Given the description of an element on the screen output the (x, y) to click on. 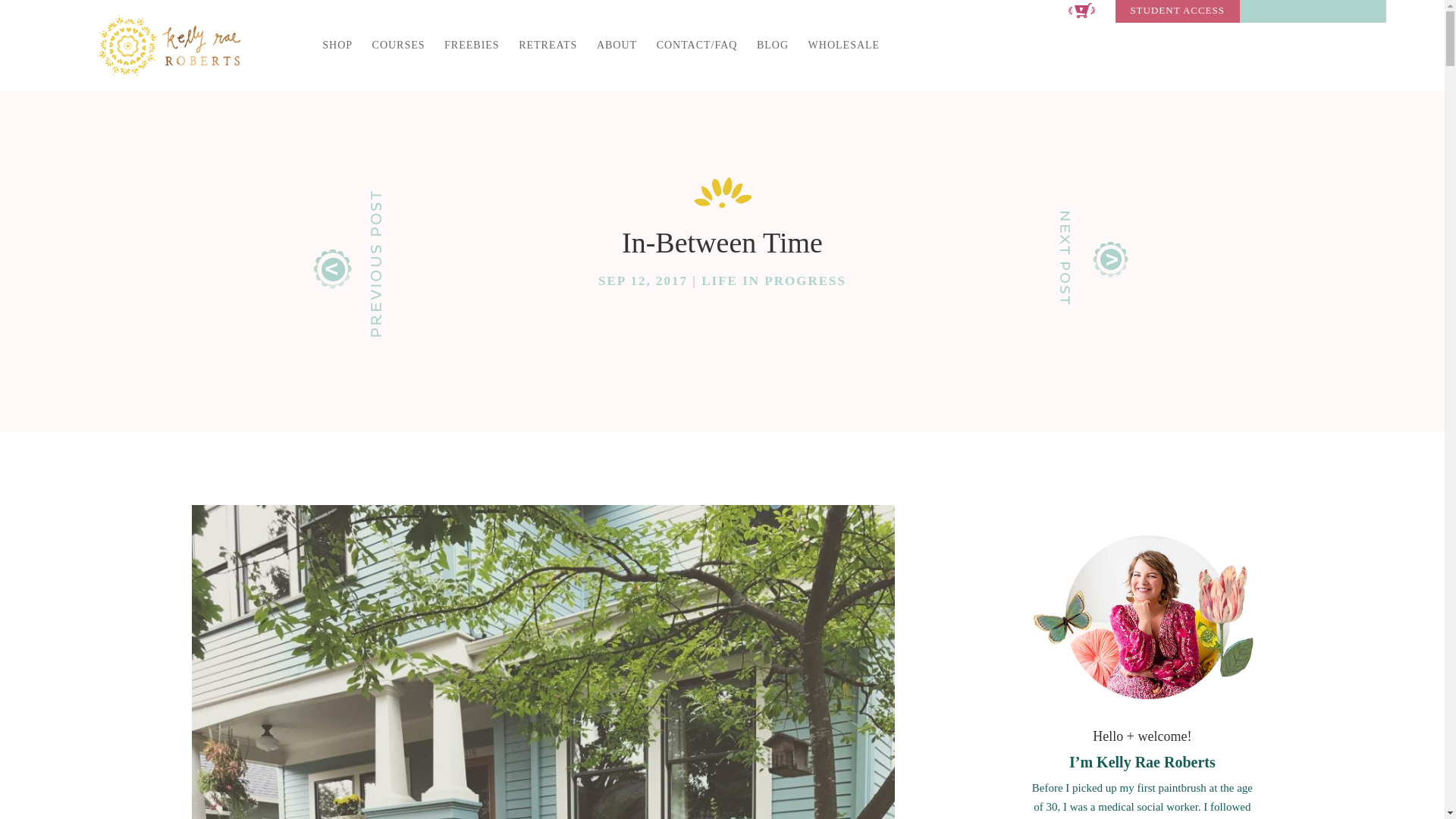
WHOLESALE (844, 58)
FREEBIES (471, 58)
COURSES (398, 58)
STUDENT ACCESS (1177, 13)
RETREATS (547, 58)
BLOG (773, 58)
LIFE IN PROGRESS (773, 280)
ABOUT (616, 58)
hello and welcome (1141, 617)
